Given the description of an element on the screen output the (x, y) to click on. 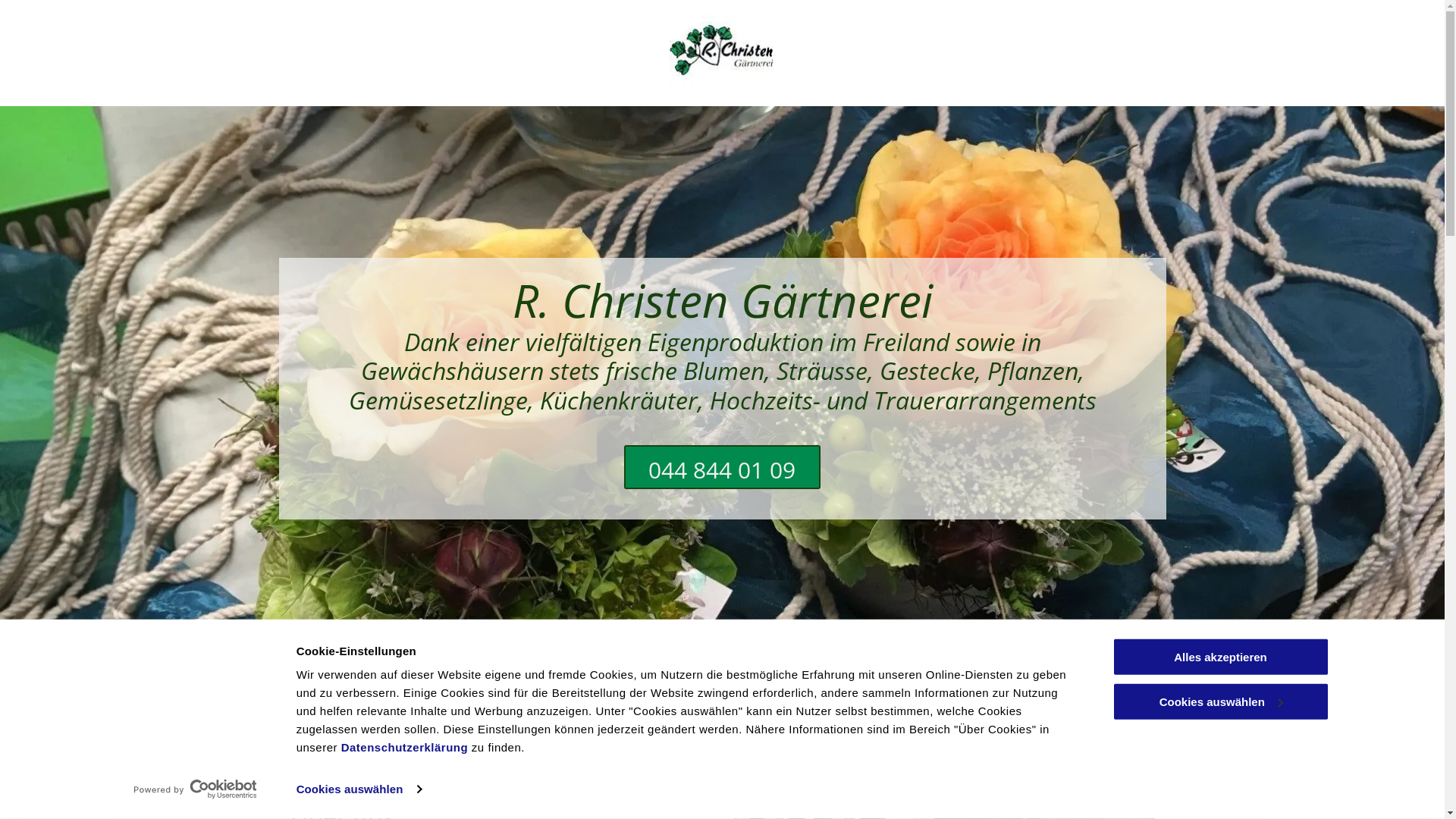
044 844 01 09 Element type: text (722, 467)
Alles akzeptieren Element type: text (1219, 656)
